Given the description of an element on the screen output the (x, y) to click on. 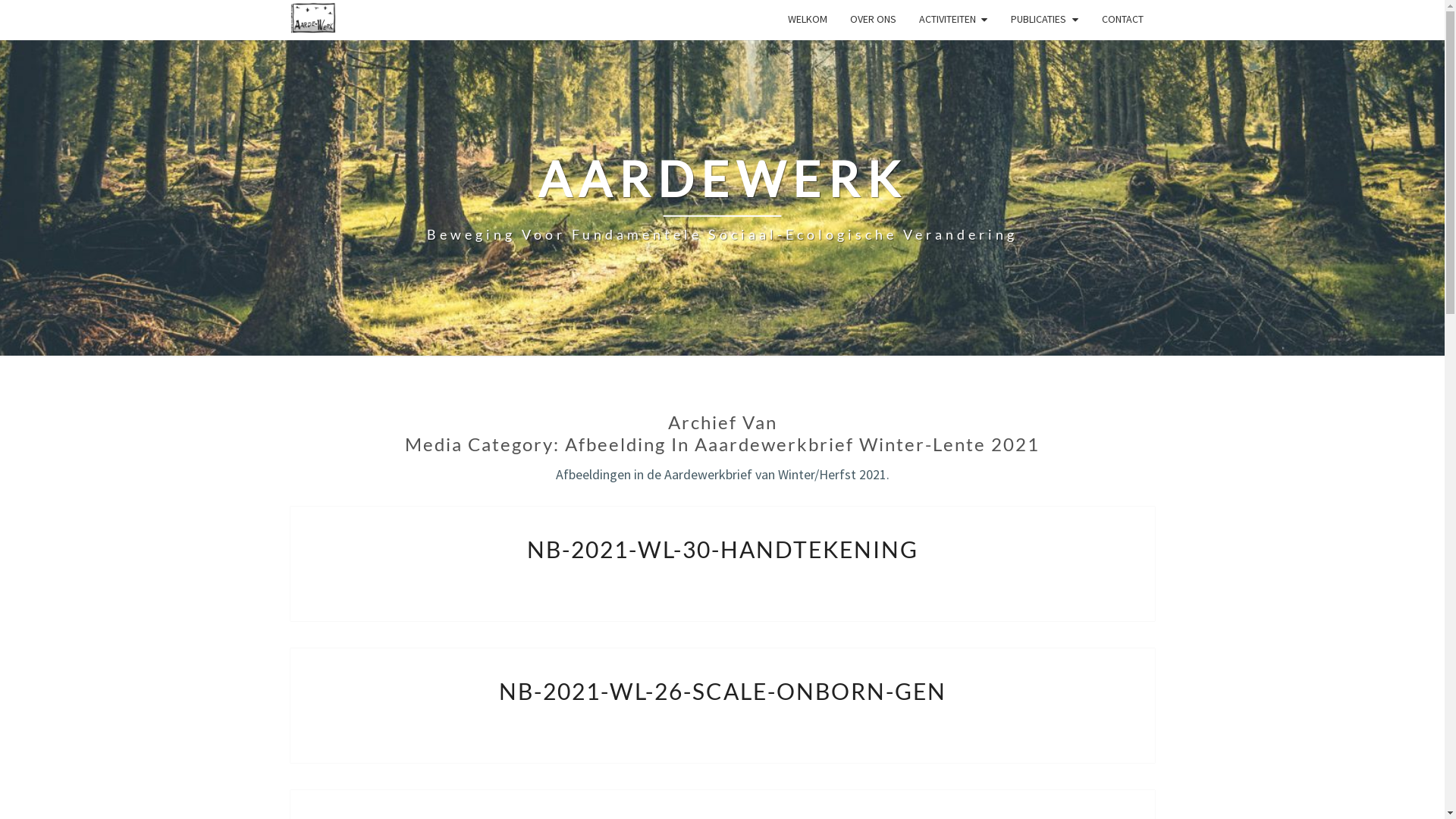
WELKOM Element type: text (807, 19)
OVER ONS Element type: text (872, 19)
CONTACT Element type: text (1122, 19)
NB-2021-WL-30-HANDTEKENING Element type: text (721, 548)
PUBLICATIES Element type: text (1044, 19)
ACTIVITEITEN Element type: text (952, 19)
NB-2021-WL-26-SCALE-ONBORN-GEN Element type: text (722, 690)
